Given the description of an element on the screen output the (x, y) to click on. 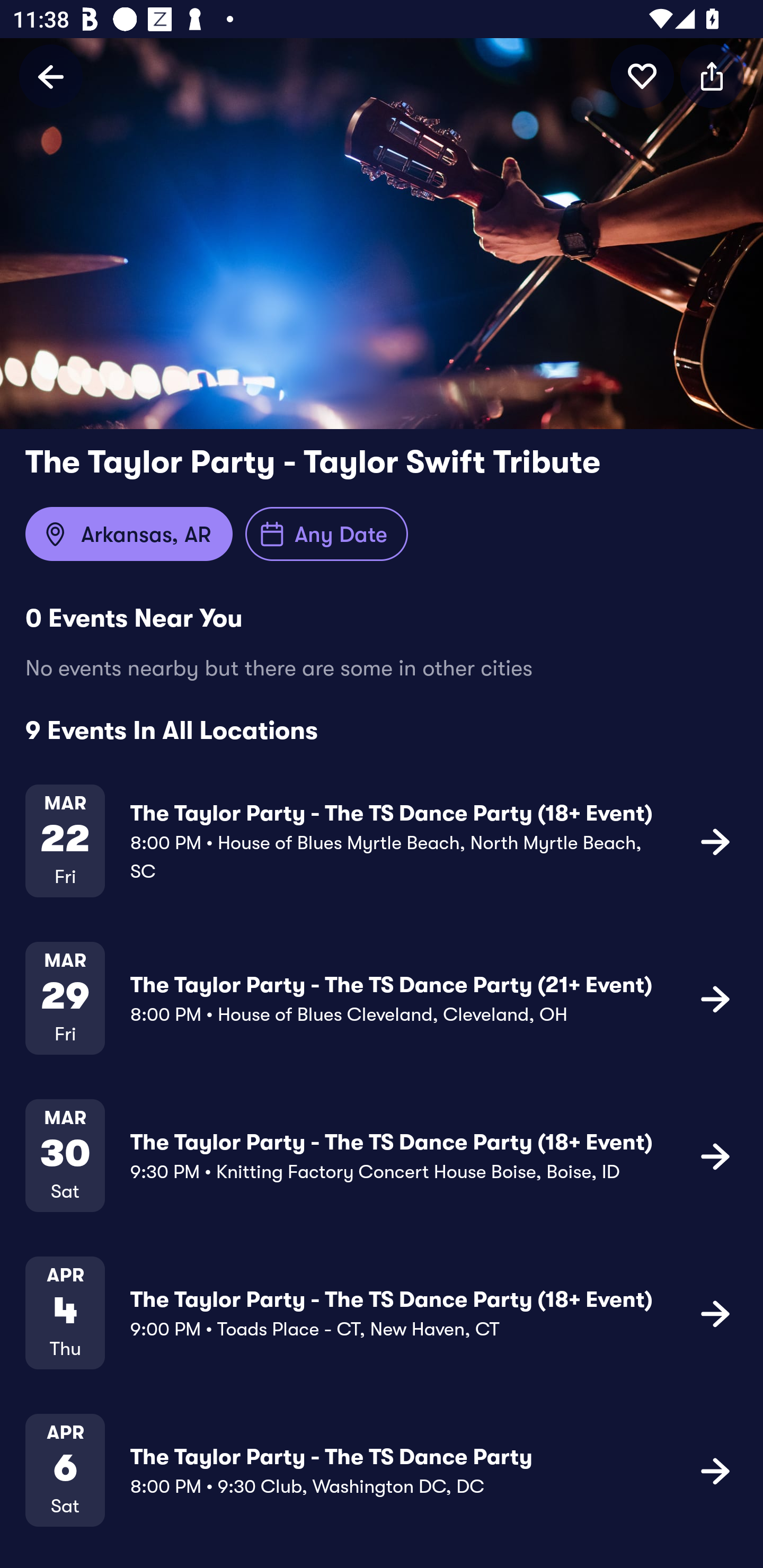
Back (50, 75)
icon button (641, 75)
icon button (711, 75)
Arkansas, AR (128, 533)
Any Date (326, 533)
icon button (714, 840)
icon button (714, 998)
icon button (714, 1155)
icon button (714, 1312)
icon button (714, 1470)
